Given the description of an element on the screen output the (x, y) to click on. 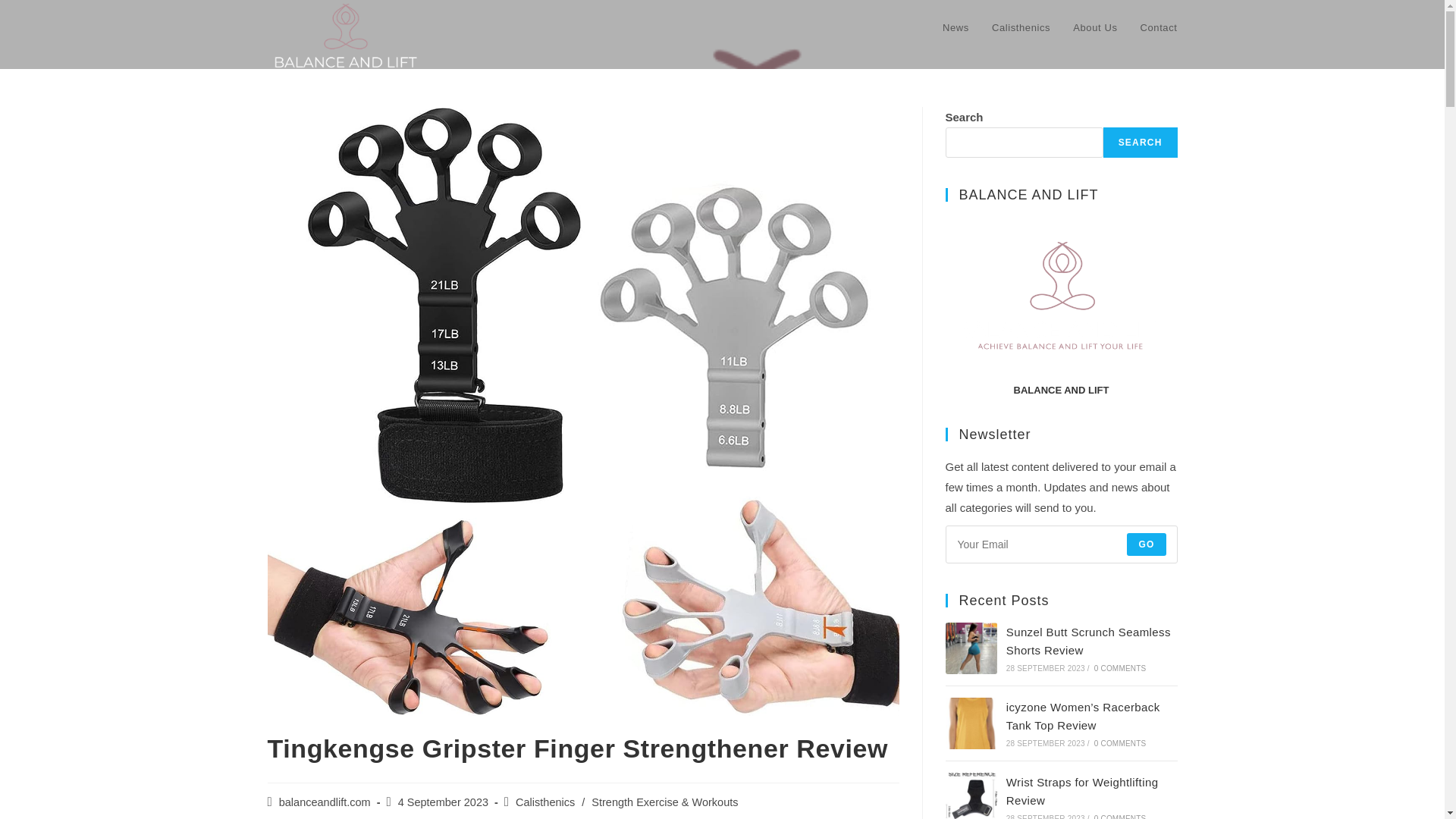
About Us (1094, 28)
Contact (1158, 28)
Sunzel Butt Scrunch Seamless Shorts Review (1088, 640)
0 COMMENTS (1120, 668)
SEARCH (1140, 142)
Calisthenics (545, 802)
Calisthenics (1020, 28)
GO (1146, 544)
Posts by balanceandlift.com (325, 802)
balanceandlift.com (325, 802)
